Given the description of an element on the screen output the (x, y) to click on. 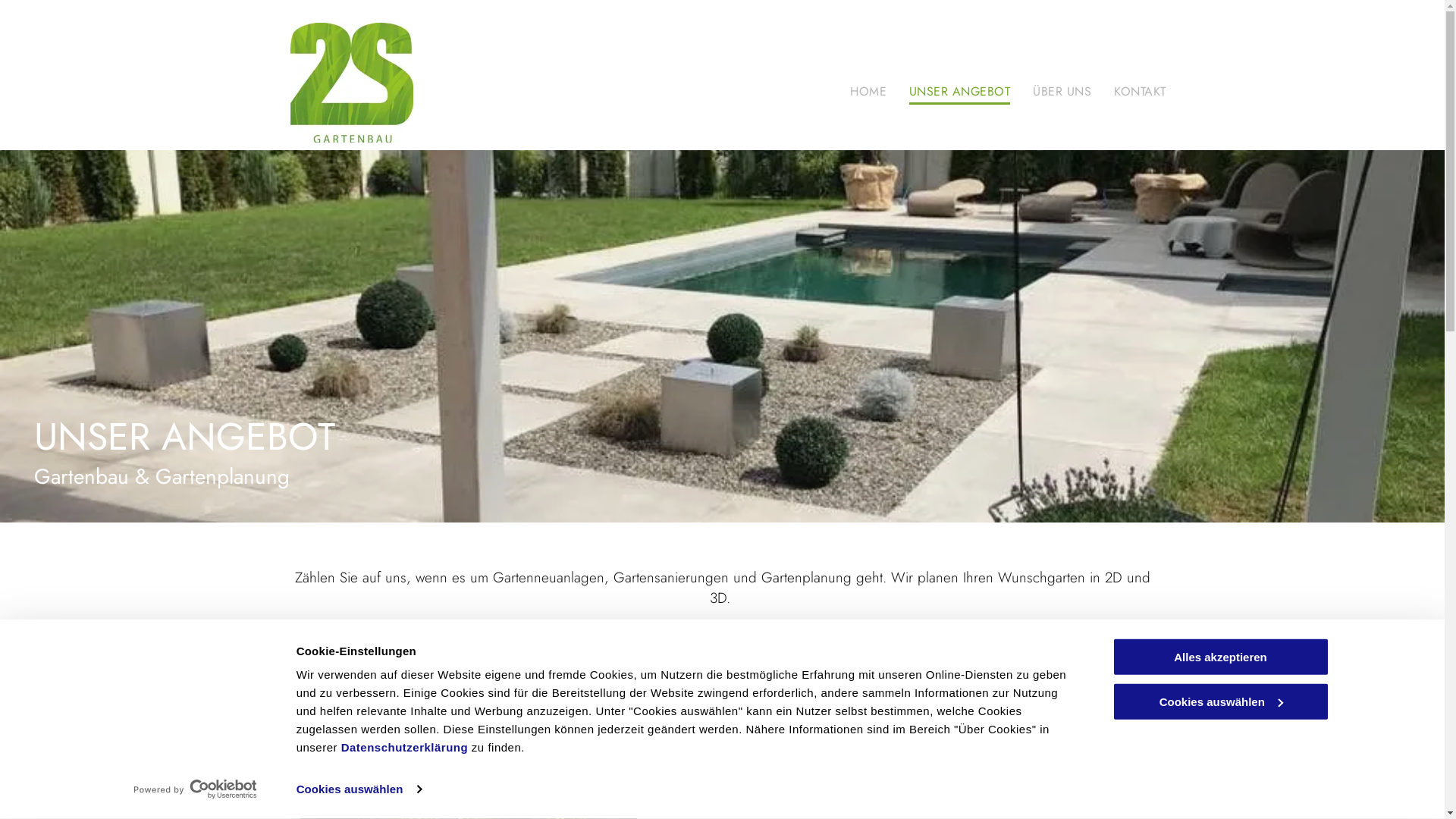
HOME Element type: text (868, 87)
UNSER ANGEBOT Element type: text (959, 87)
KONTAKT Element type: text (1139, 87)
Kostenlose Offerte anfra Element type: text (721, 640)
Alles akzeptieren Element type: text (1219, 656)
